Given the description of an element on the screen output the (x, y) to click on. 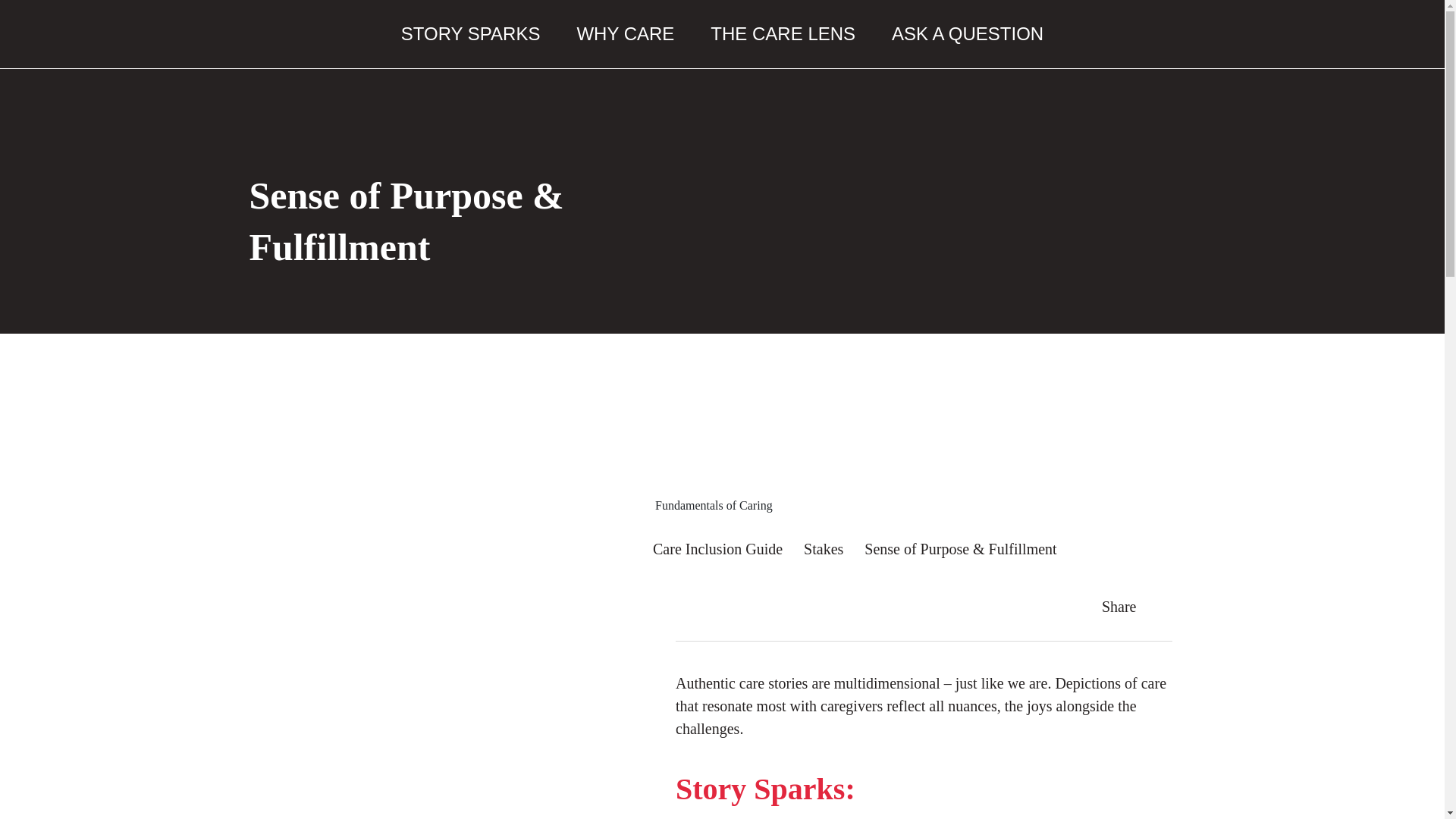
ASK A QUESTION (967, 33)
THE CARE LENS (783, 33)
STORY SPARKS (470, 33)
Stakes (823, 548)
Care Inclusion Guide (717, 548)
WHY CARE (625, 33)
